Given the description of an element on the screen output the (x, y) to click on. 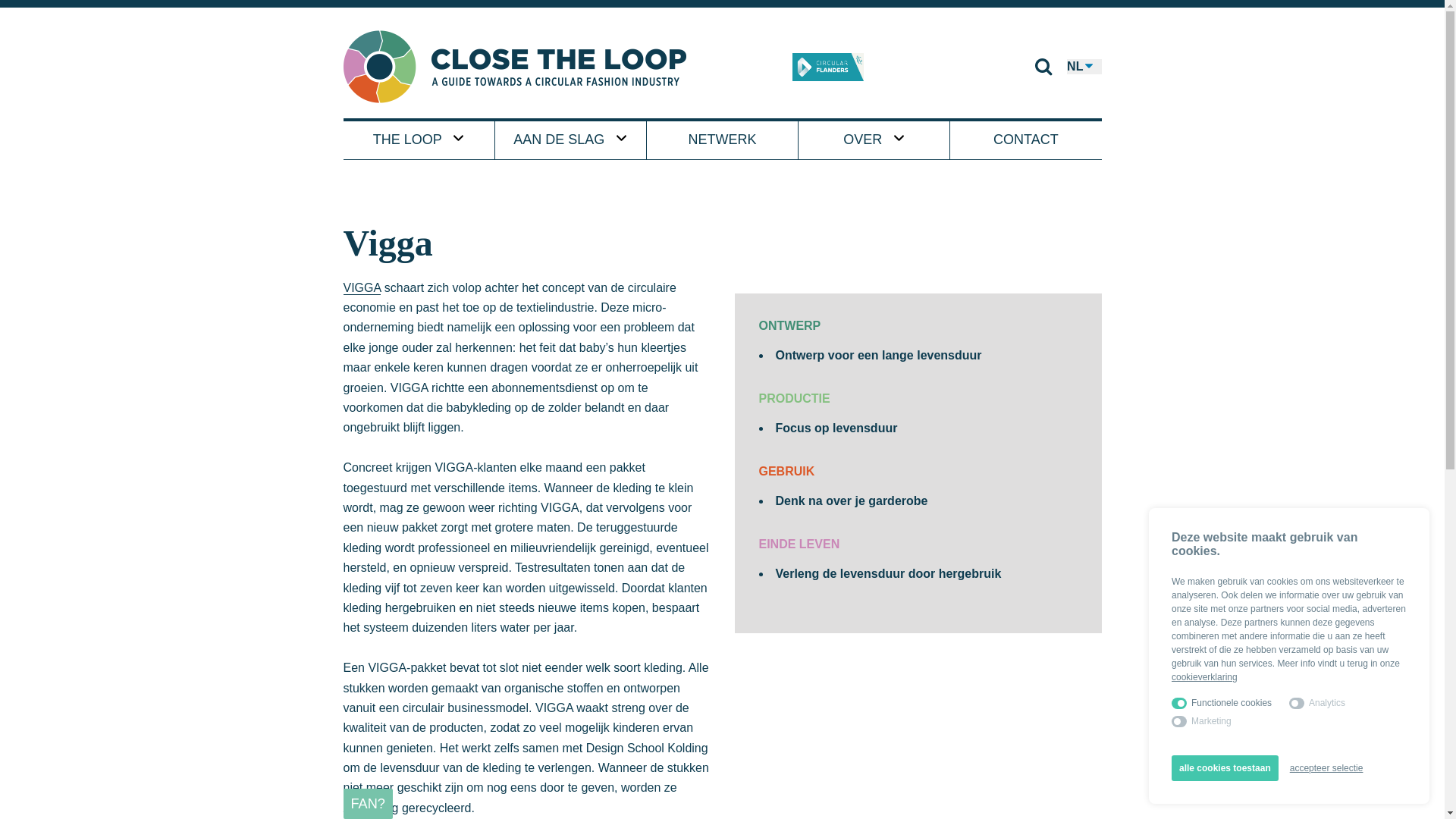
OVER Element type: text (873, 139)
AAN DE SLAG Element type: text (570, 139)
Denk na over je garderobe Element type: text (851, 500)
ONTWERP Element type: text (789, 325)
Plan C Element type: text (827, 67)
alle cookies toestaan Element type: text (1224, 768)
THE LOOP Element type: text (418, 139)
GEBRUIK Element type: text (786, 470)
Ontwerp voor een lange levensduur Element type: text (878, 354)
cookieverklaring Element type: text (1204, 676)
FFI Element type: text (740, 66)
accepteer selectie Element type: text (1326, 768)
NETWERK Element type: text (722, 139)
EINDE LEVEN Element type: text (798, 543)
Focus op levensduur Element type: text (836, 427)
Verleng de levensduur door hergebruik Element type: text (888, 573)
CONTACT Element type: text (1025, 139)
VIGGA Element type: text (361, 287)
PRODUCTIE Element type: text (793, 398)
